Given the description of an element on the screen output the (x, y) to click on. 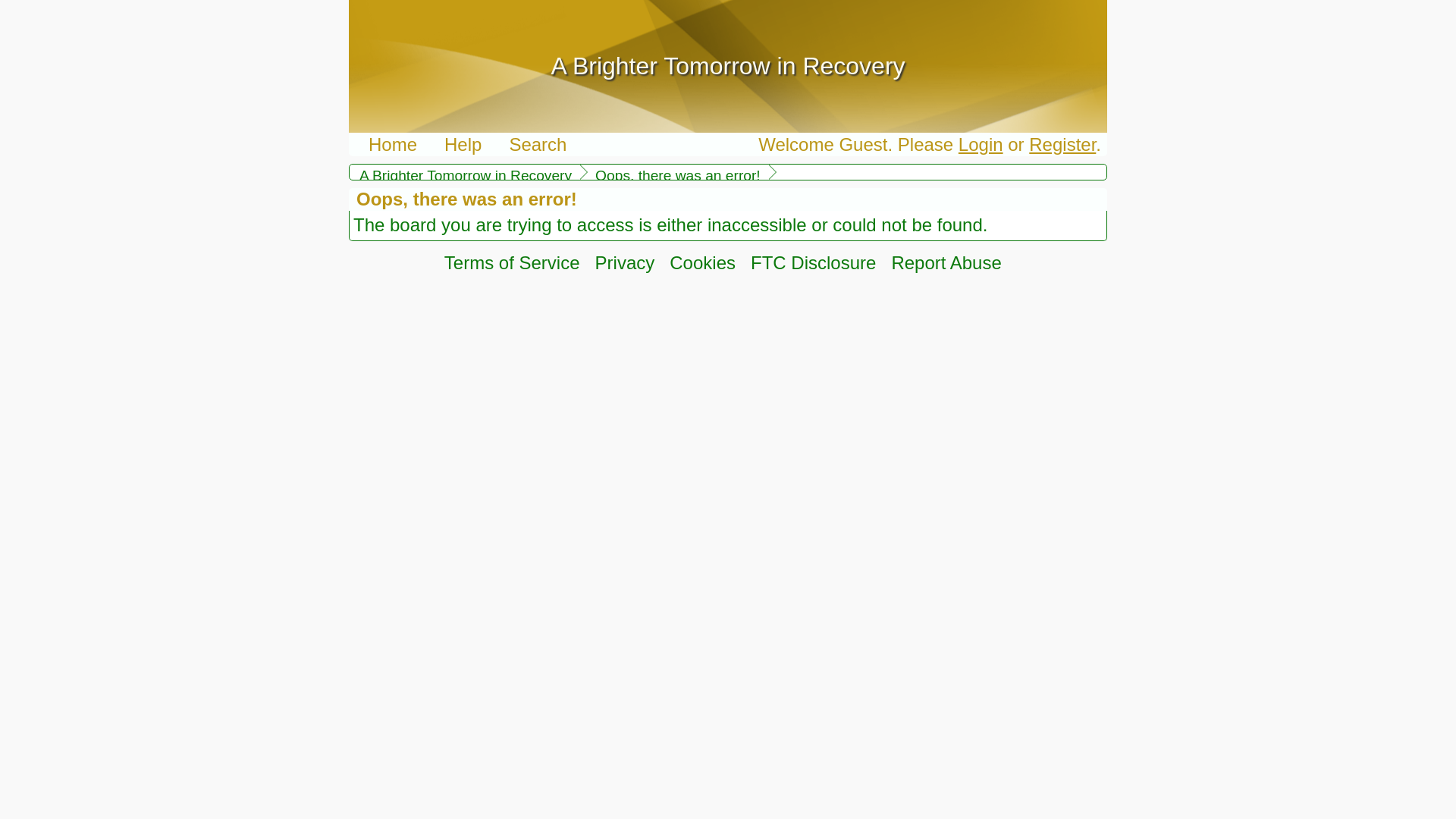
Oops, there was an error! (675, 175)
Login (980, 144)
Help (462, 144)
Register (1062, 144)
A Brighter Tomorrow in Recovery (727, 65)
Home (392, 144)
Cookies (702, 262)
Search (537, 144)
Privacy (625, 262)
A Brighter Tomorrow in Recovery (463, 175)
